Given the description of an element on the screen output the (x, y) to click on. 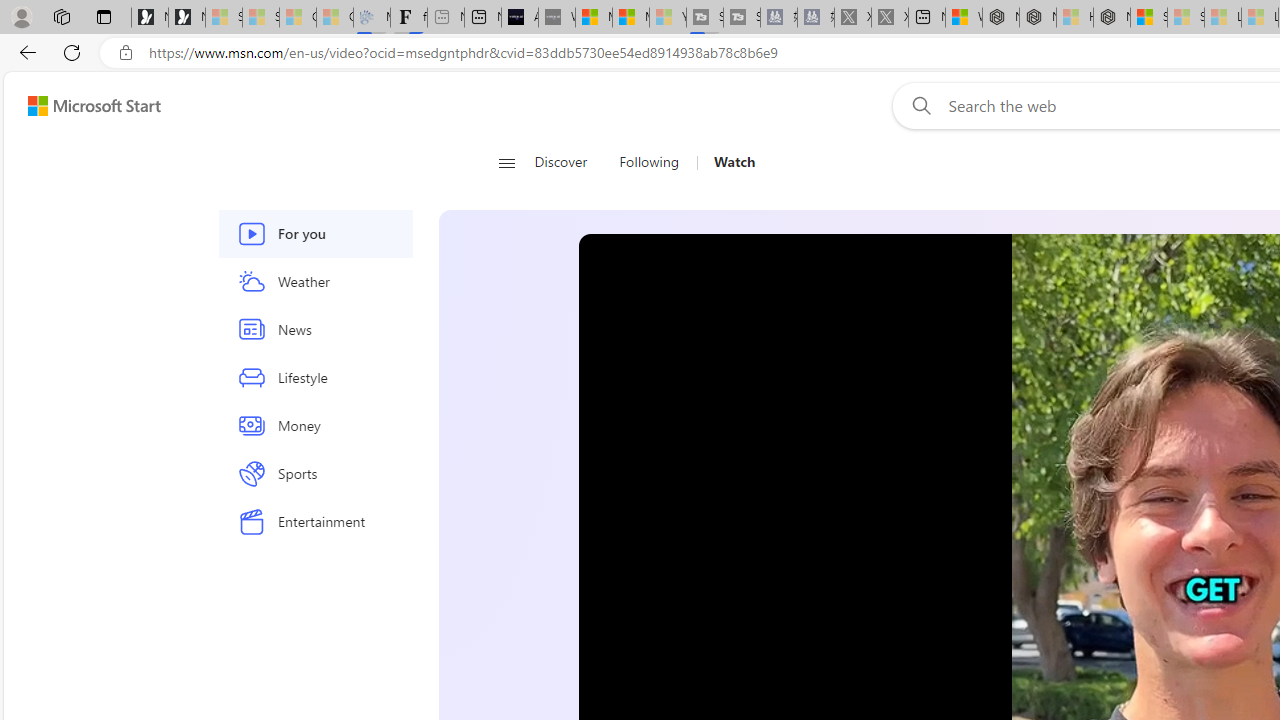
Watch (726, 162)
What's the best AI voice generator? - voice.ai - Sleeping (556, 17)
Watch (734, 162)
X - Sleeping (889, 17)
View site information (125, 53)
Discover (568, 162)
Following (648, 162)
Web search (917, 105)
Microsoft Start Sports (593, 17)
Nordace - Summer Adventures 2024 (1037, 17)
